Given the description of an element on the screen output the (x, y) to click on. 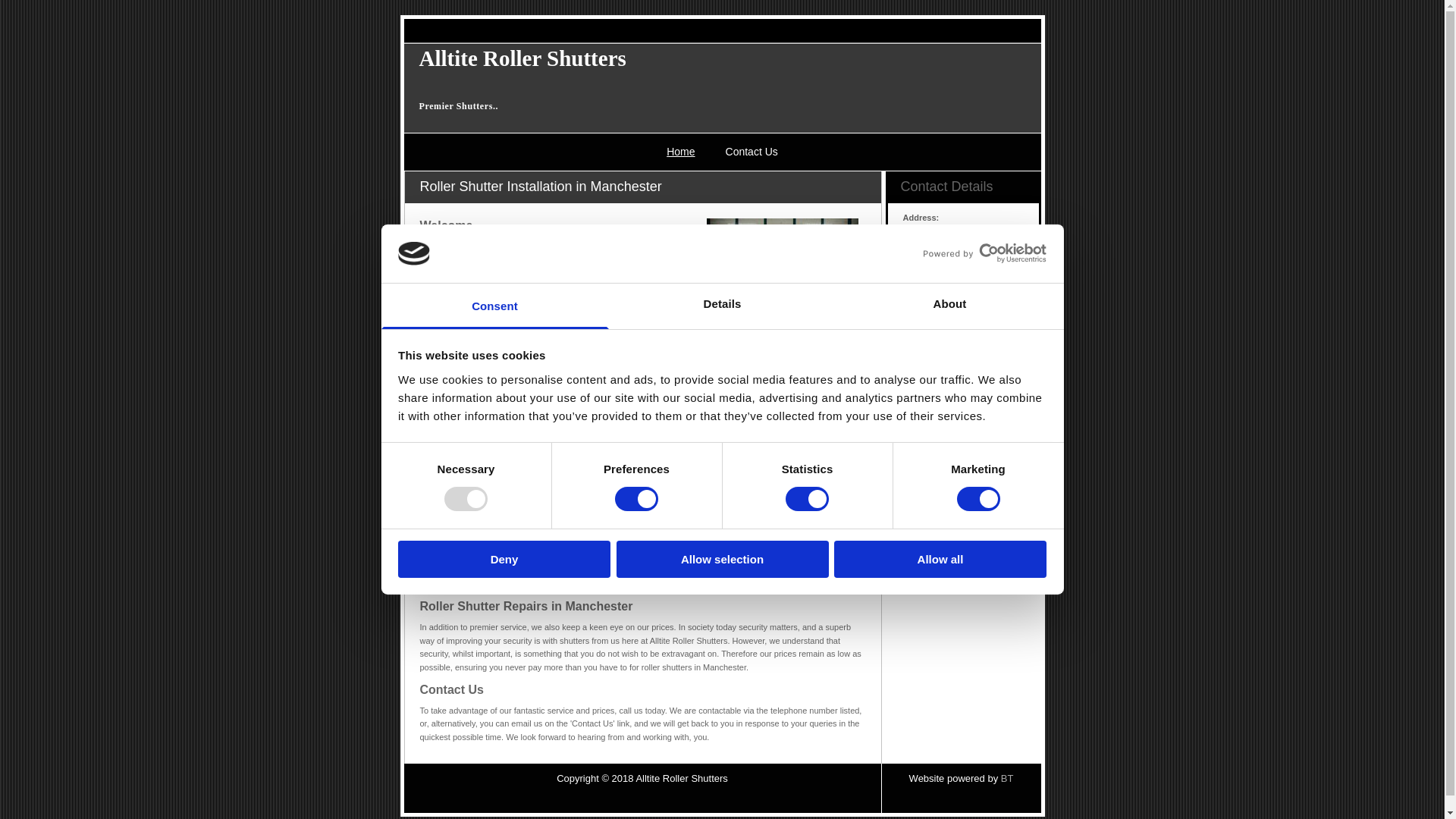
Allow selection (721, 559)
Home (680, 151)
Details (721, 306)
Consent (494, 306)
About (948, 306)
0161 681 6775 (930, 287)
Allow all (940, 559)
Deny (503, 559)
Contact Us (751, 151)
Alltite Roller Shutters (522, 57)
BT (1007, 778)
